Given the description of an element on the screen output the (x, y) to click on. 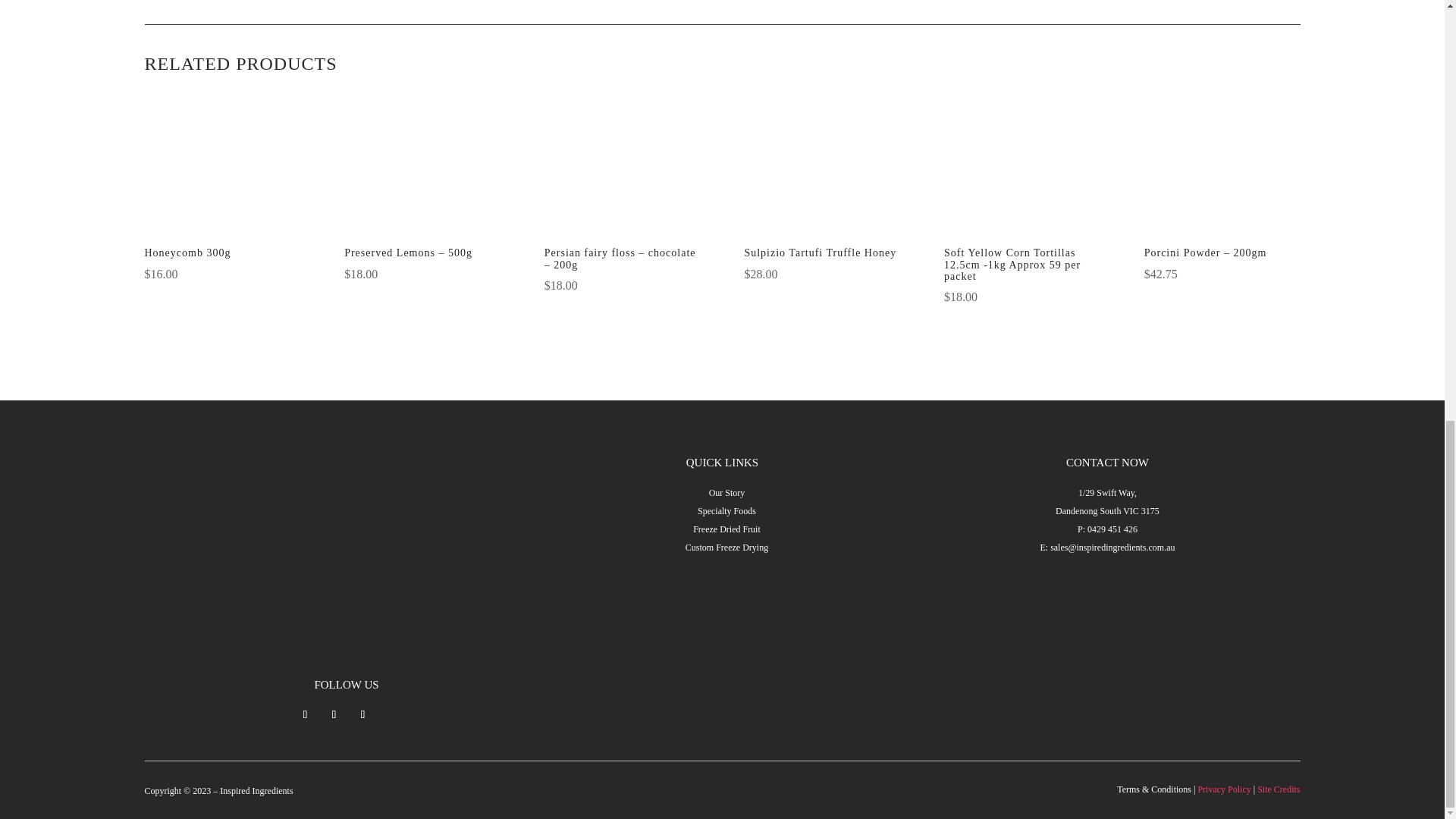
Our Story (727, 492)
Custom Freeze Drying (726, 547)
Follow on Instagram (333, 713)
Follow on LinkedIn (362, 713)
Freeze Dried Fruit (726, 529)
Follow on Facebook (304, 713)
0429 451 426 (1112, 529)
Site Credits (1278, 788)
Specialty Foods (726, 511)
Privacy Policy (1223, 788)
